Given the description of an element on the screen output the (x, y) to click on. 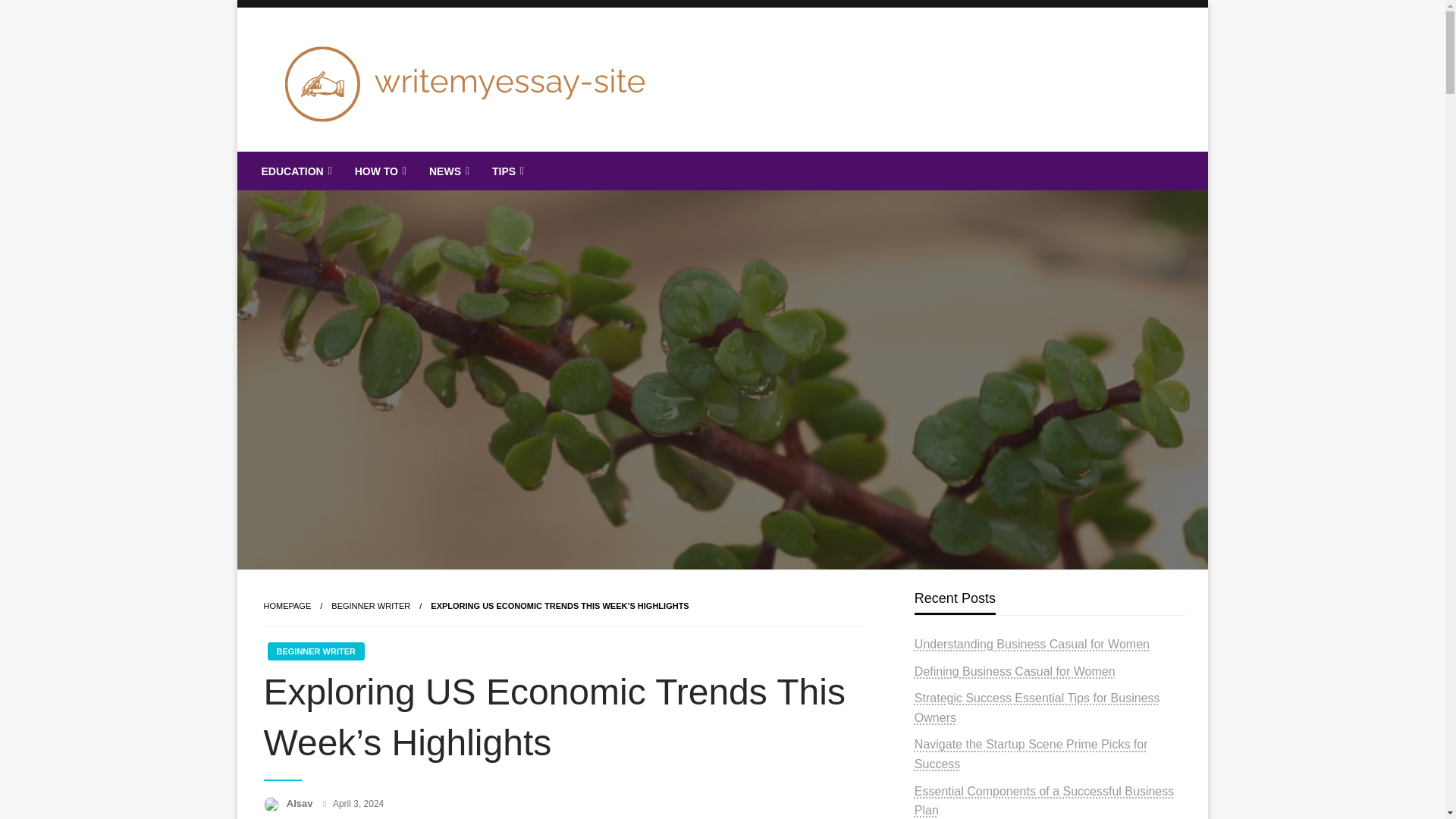
EDUCATION (295, 171)
Homepage (287, 605)
TIPS (506, 171)
Beginner Writer (370, 605)
BEGINNER WRITER (370, 605)
MY WRITE (338, 163)
April 3, 2024 (358, 803)
NEWS (447, 171)
Alsav (300, 803)
HOMEPAGE (287, 605)
BEGINNER WRITER (315, 651)
HOW TO (379, 171)
Alsav (300, 803)
